Given the description of an element on the screen output the (x, y) to click on. 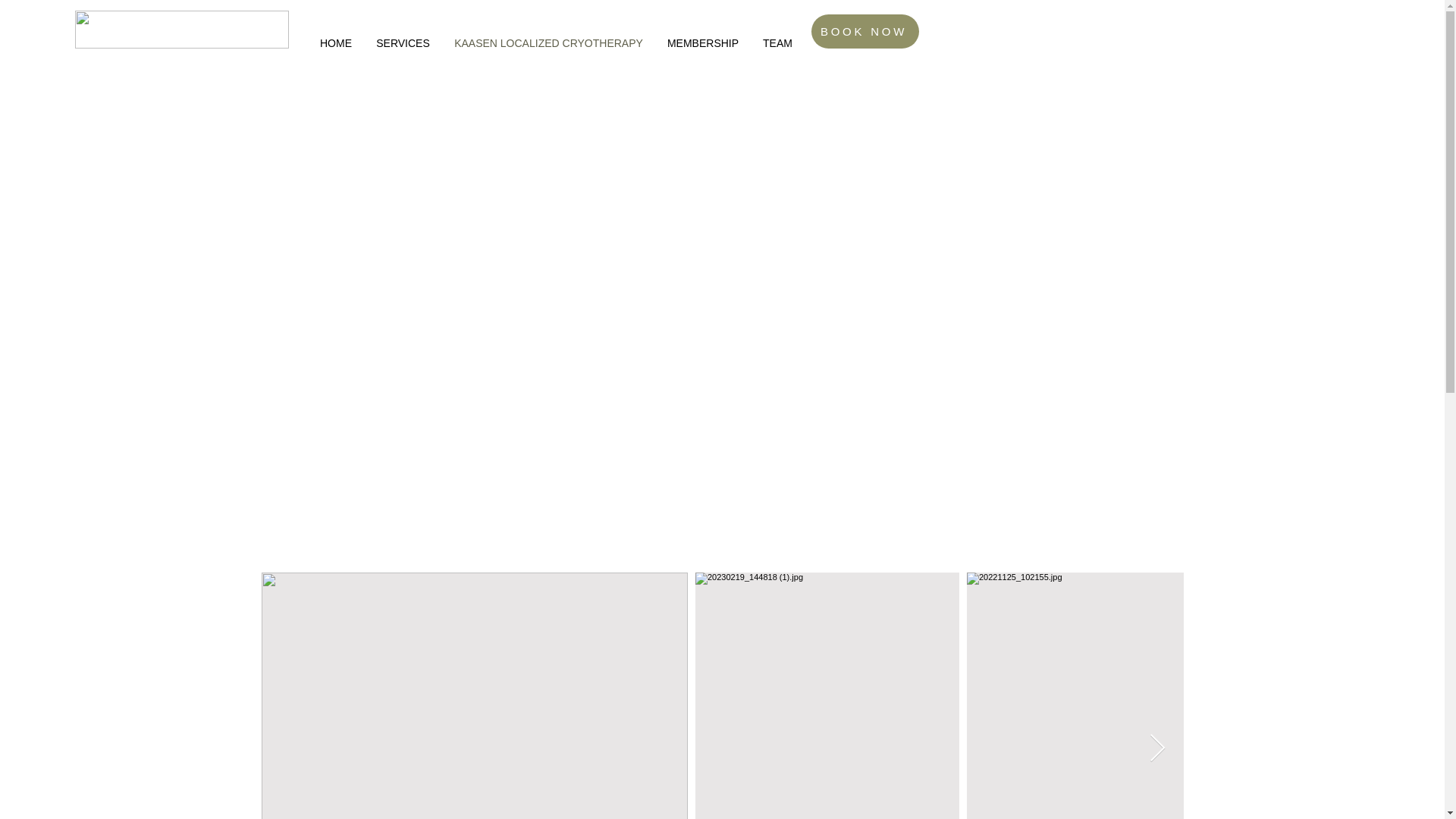
HOME (335, 42)
BOOK NOW (864, 31)
KAASEN LOCALIZED CRYOTHERAPY (548, 42)
SERVICES (403, 42)
MEMBERSHIP (703, 42)
TEAM (778, 42)
